Given the description of an element on the screen output the (x, y) to click on. 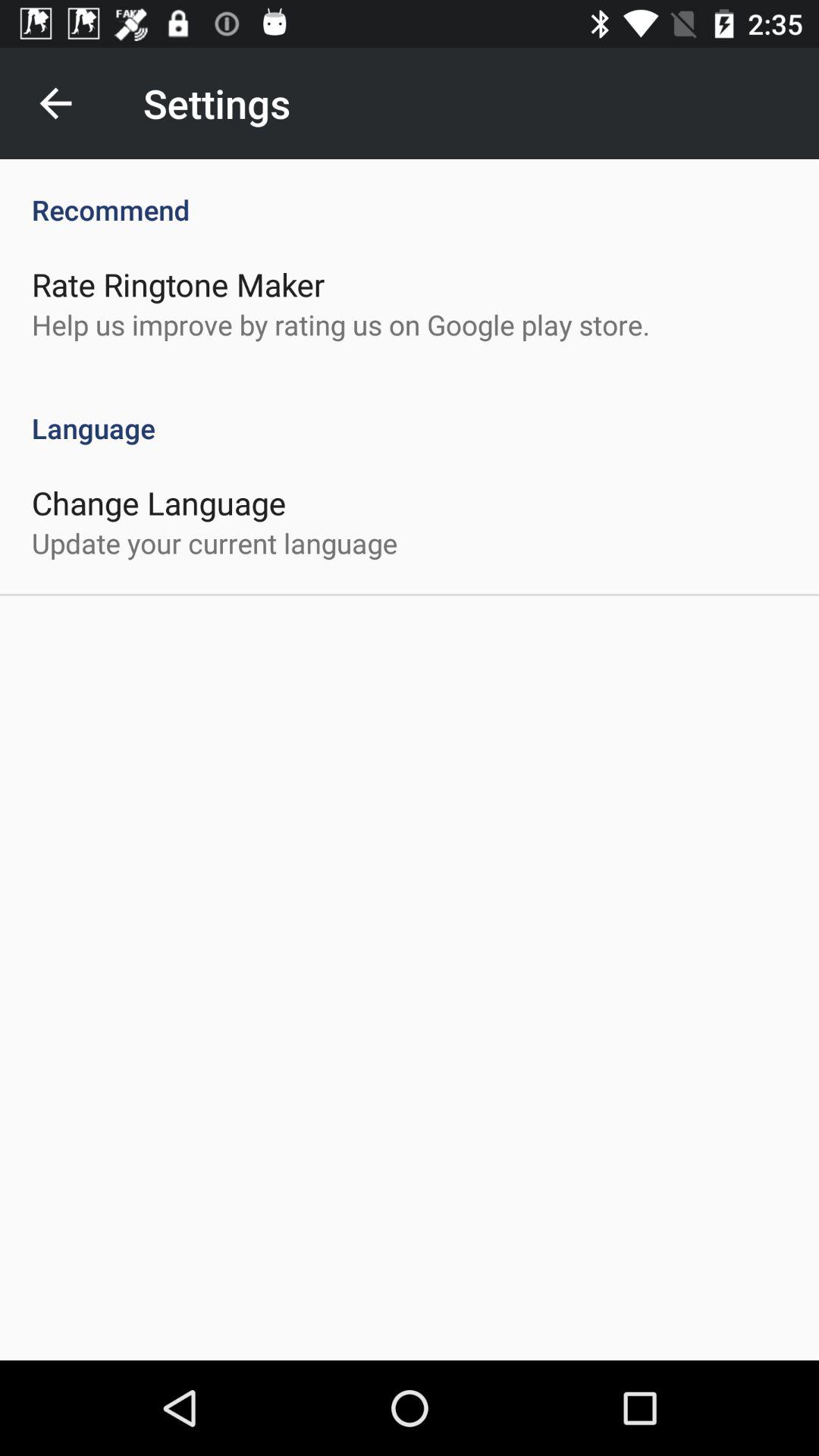
select item below language (158, 502)
